Given the description of an element on the screen output the (x, y) to click on. 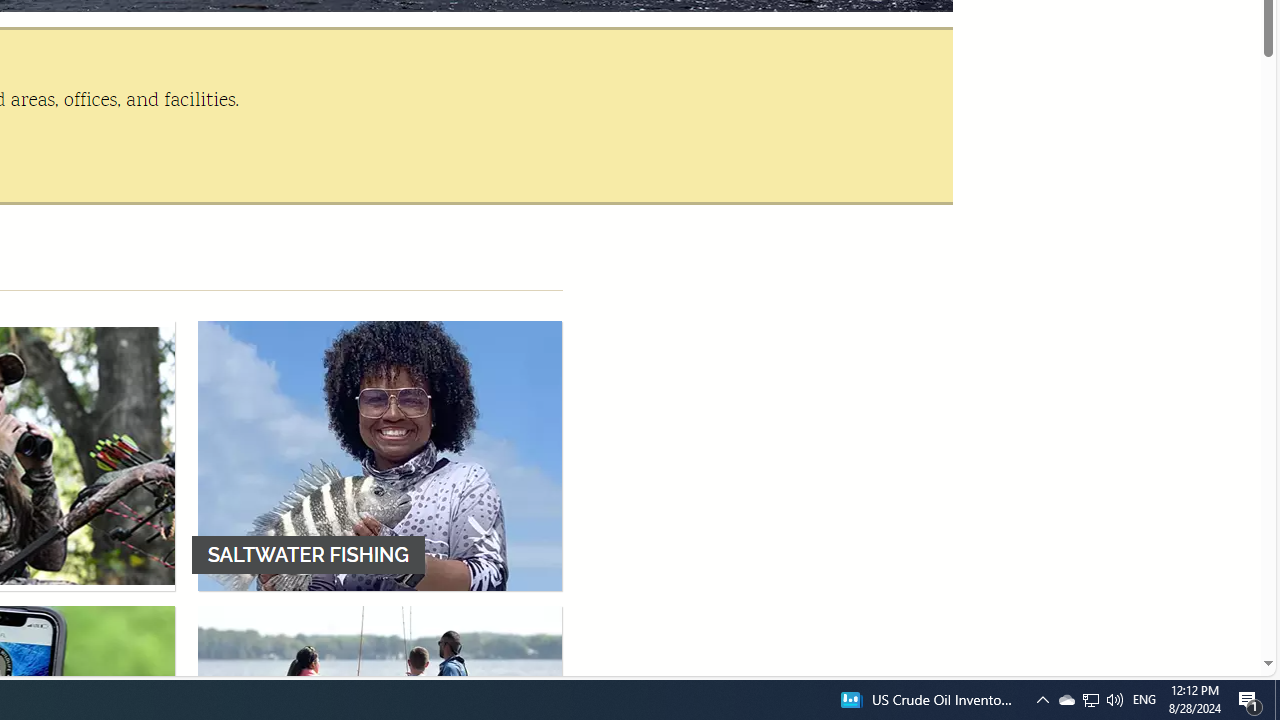
SALTWATER FISHING (380, 455)
